Given the description of an element on the screen output the (x, y) to click on. 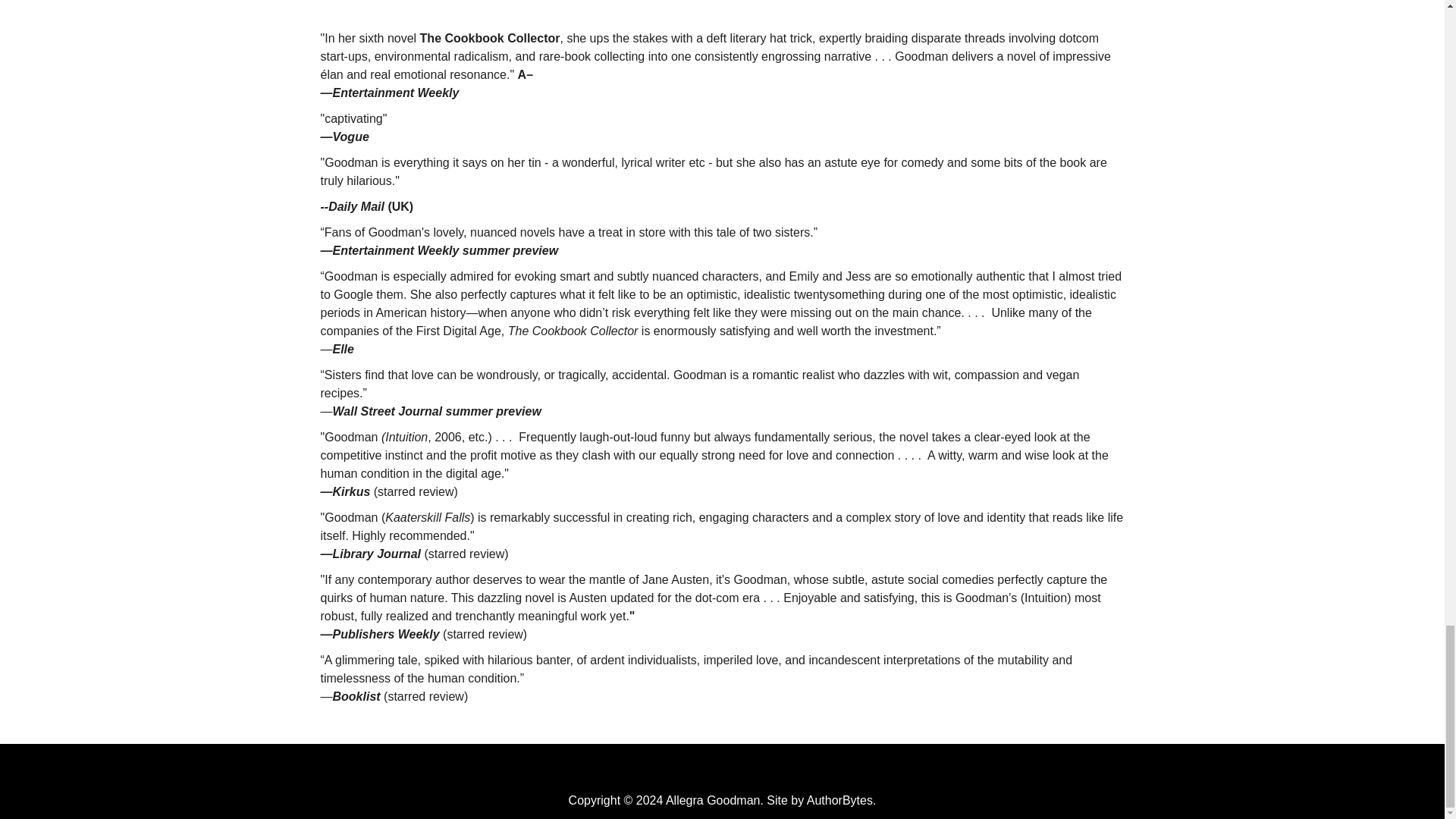
AuthorBytes (839, 799)
